Given the description of an element on the screen output the (x, y) to click on. 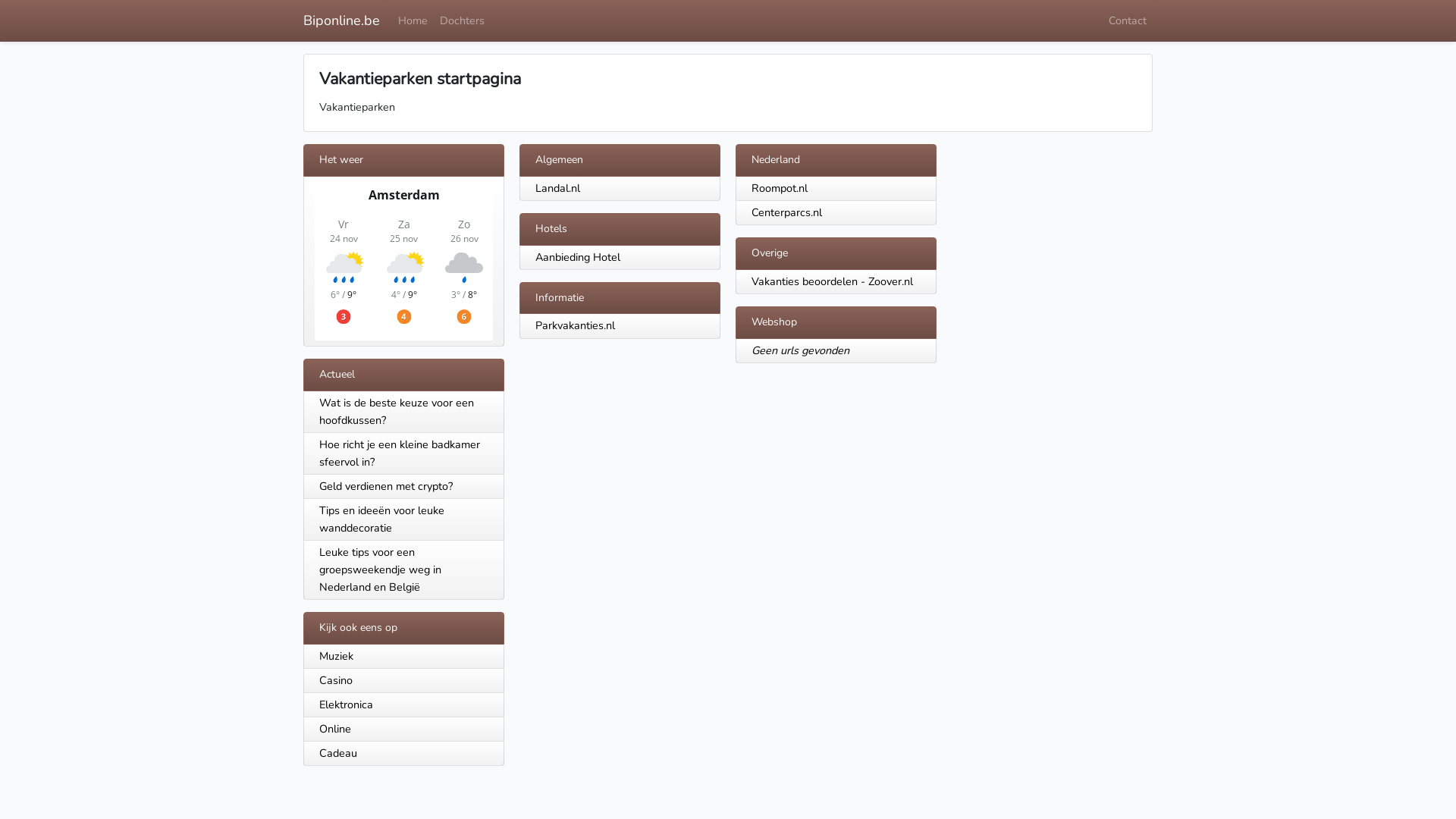
Roompot.nl Element type: text (779, 187)
Online Element type: text (403, 729)
Casino Element type: text (403, 680)
Parkvakanties.nl Element type: text (575, 324)
Vakanties beoordelen - Zoover.nl Element type: text (832, 280)
Contact Element type: text (1127, 20)
Elektronica Element type: text (403, 705)
Landal.nl Element type: text (557, 187)
Biponline.be Element type: text (341, 20)
Dochters Element type: text (461, 20)
Hoe richt je een kleine badkamer sfeervol in? Element type: text (403, 453)
Aanbieding Hotel Element type: text (577, 256)
Home Element type: text (412, 20)
Geld verdienen met crypto? Element type: text (403, 486)
Muziek Element type: text (403, 656)
Wat is de beste keuze voor een hoofdkussen? Element type: text (403, 412)
Cadeau Element type: text (403, 753)
Centerparcs.nl Element type: text (786, 211)
